Given the description of an element on the screen output the (x, y) to click on. 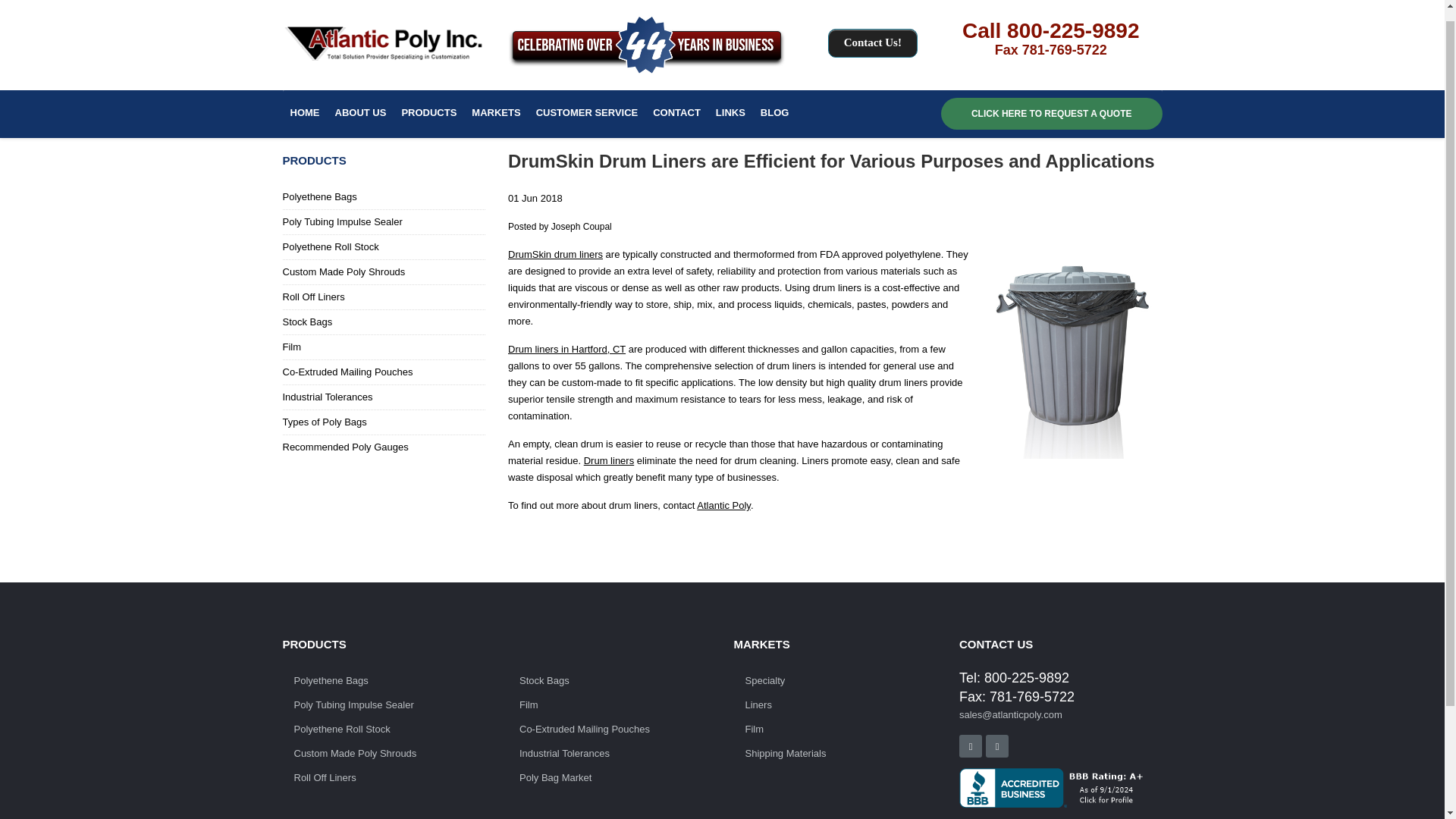
HOME (304, 101)
800-225-9892 (1072, 18)
ABOUT US (360, 101)
Contact Us! (872, 30)
PRODUCTS (428, 101)
781-769-5722 (1064, 37)
Celebrating Over 44 Years in Business! (647, 33)
